Given the description of an element on the screen output the (x, y) to click on. 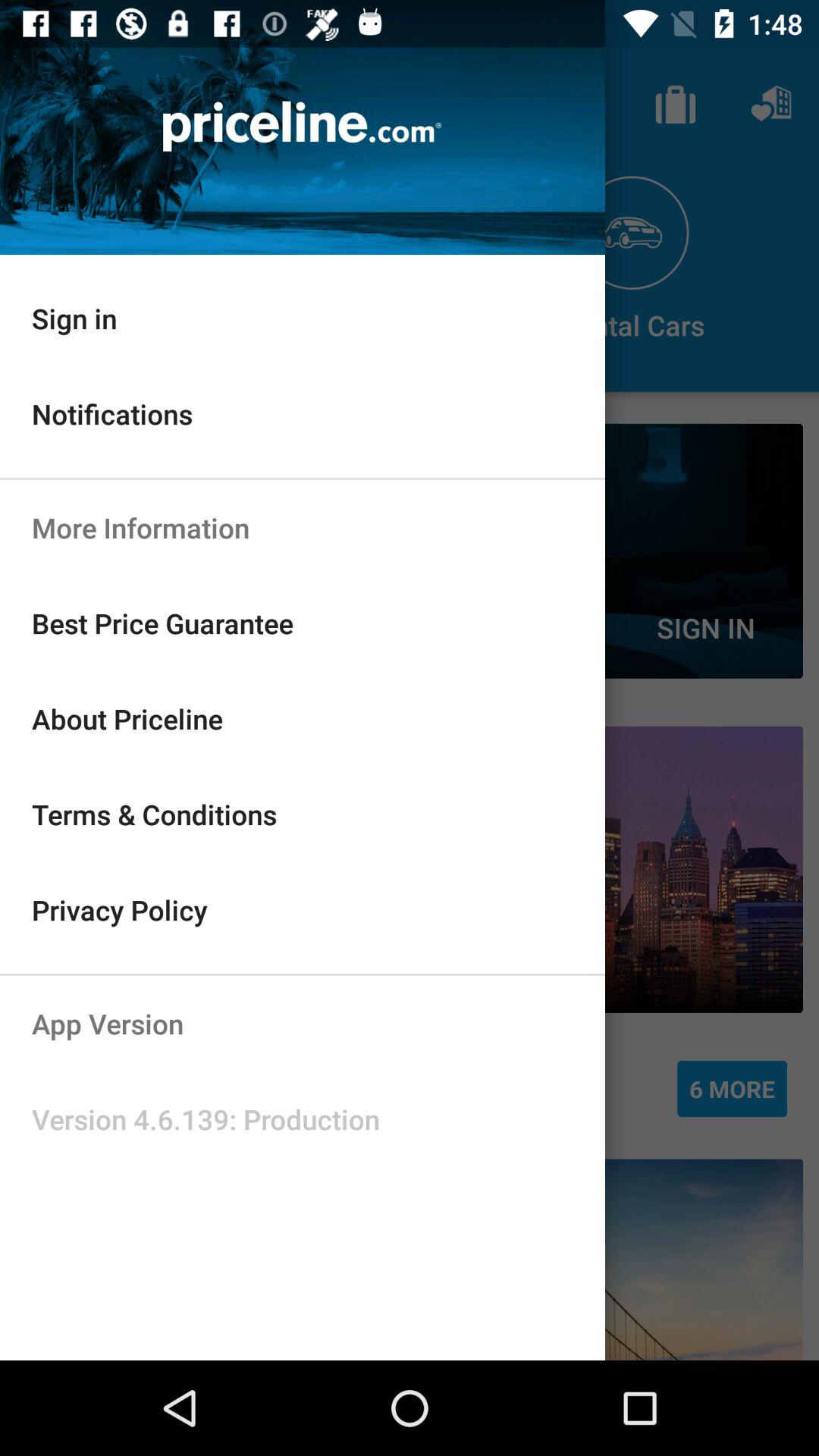
click on the blue color button at bottom right (732, 1088)
select the text on the image (302, 126)
